Given the description of an element on the screen output the (x, y) to click on. 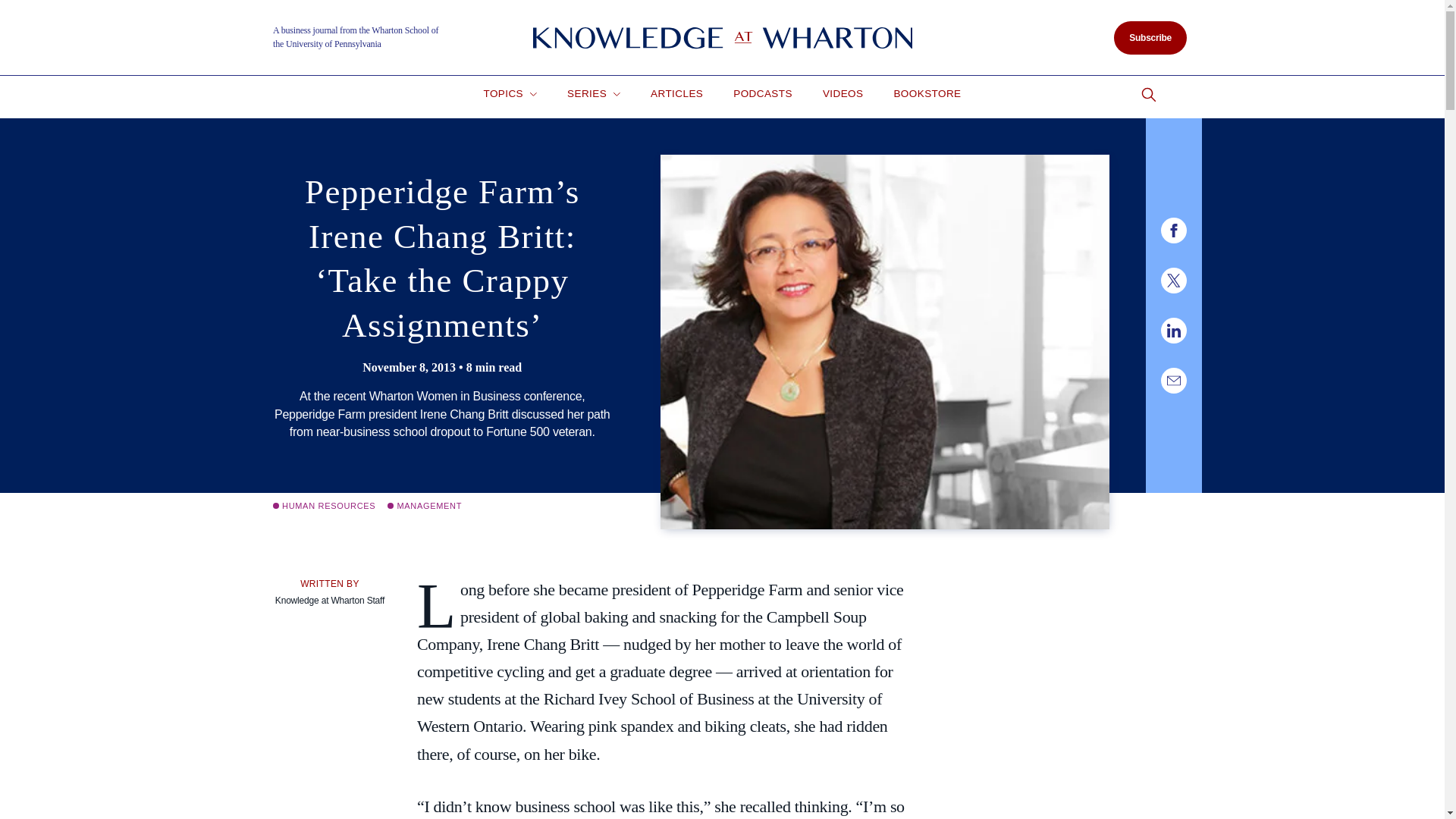
Share this page on Facebook (1173, 230)
Share this page on Twitter (1173, 280)
Go to site search (1148, 94)
Share this page on LinkedIn (1173, 330)
Knowledge at Wharton (721, 37)
Subscribe (1149, 37)
Share this page by email (1173, 380)
